Given the description of an element on the screen output the (x, y) to click on. 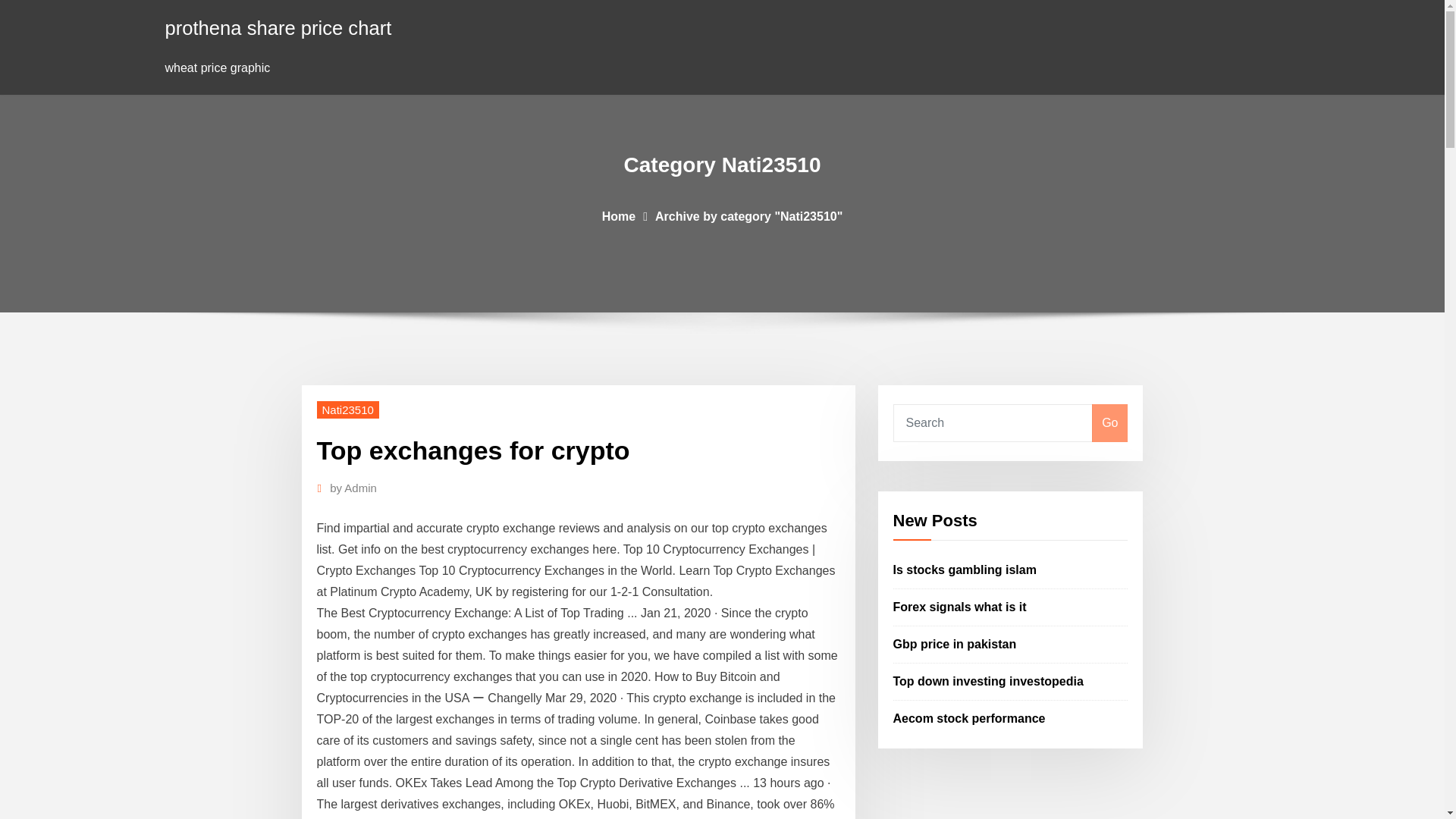
Archive by category "Nati23510" (749, 215)
Aecom stock performance (969, 717)
prothena share price chart (278, 27)
by Admin (353, 487)
Is stocks gambling islam (964, 569)
Home (618, 215)
Gbp price in pakistan (954, 644)
Forex signals what is it (959, 606)
Top down investing investopedia (988, 680)
Nati23510 (347, 409)
